Given the description of an element on the screen output the (x, y) to click on. 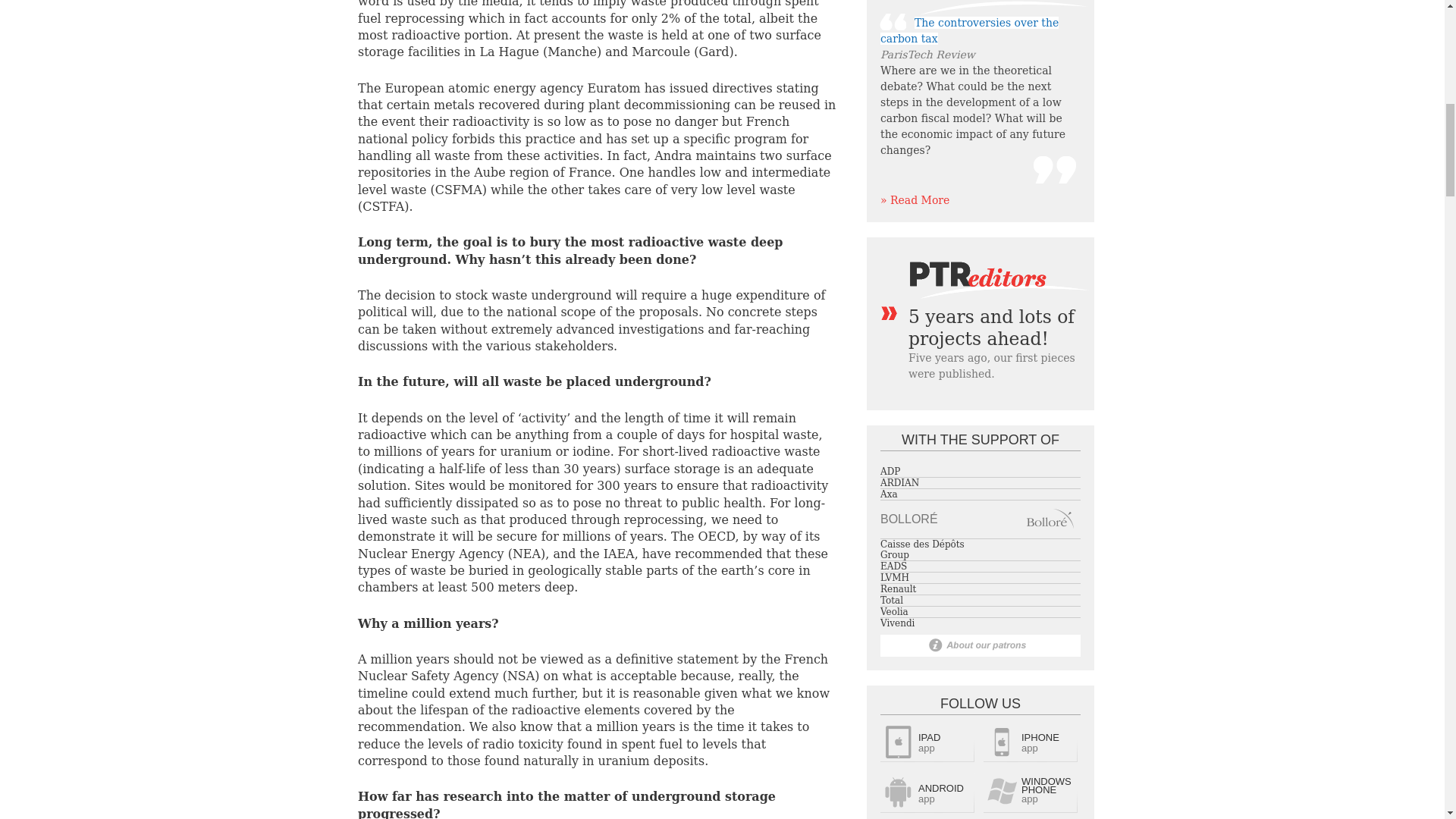
5 years and lots of projects ahead! (991, 327)
